Given the description of an element on the screen output the (x, y) to click on. 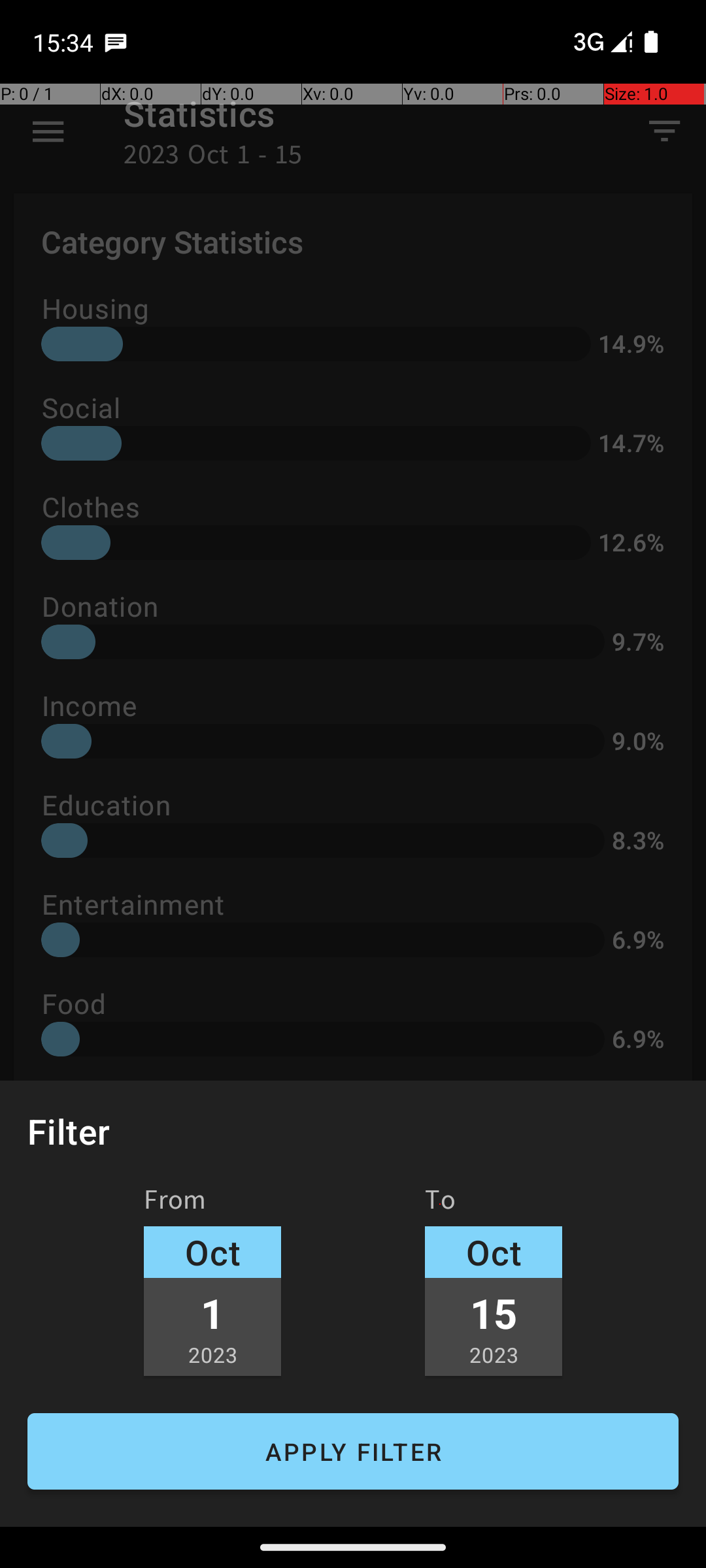
Filter Element type: android.widget.TextView (68, 1131)
From Element type: android.widget.TextView (174, 1203)
To Element type: android.widget.TextView (439, 1203)
APPLY FILTER Element type: android.widget.Button (352, 1451)
Oct Element type: android.widget.TextView (212, 1251)
